Given the description of an element on the screen output the (x, y) to click on. 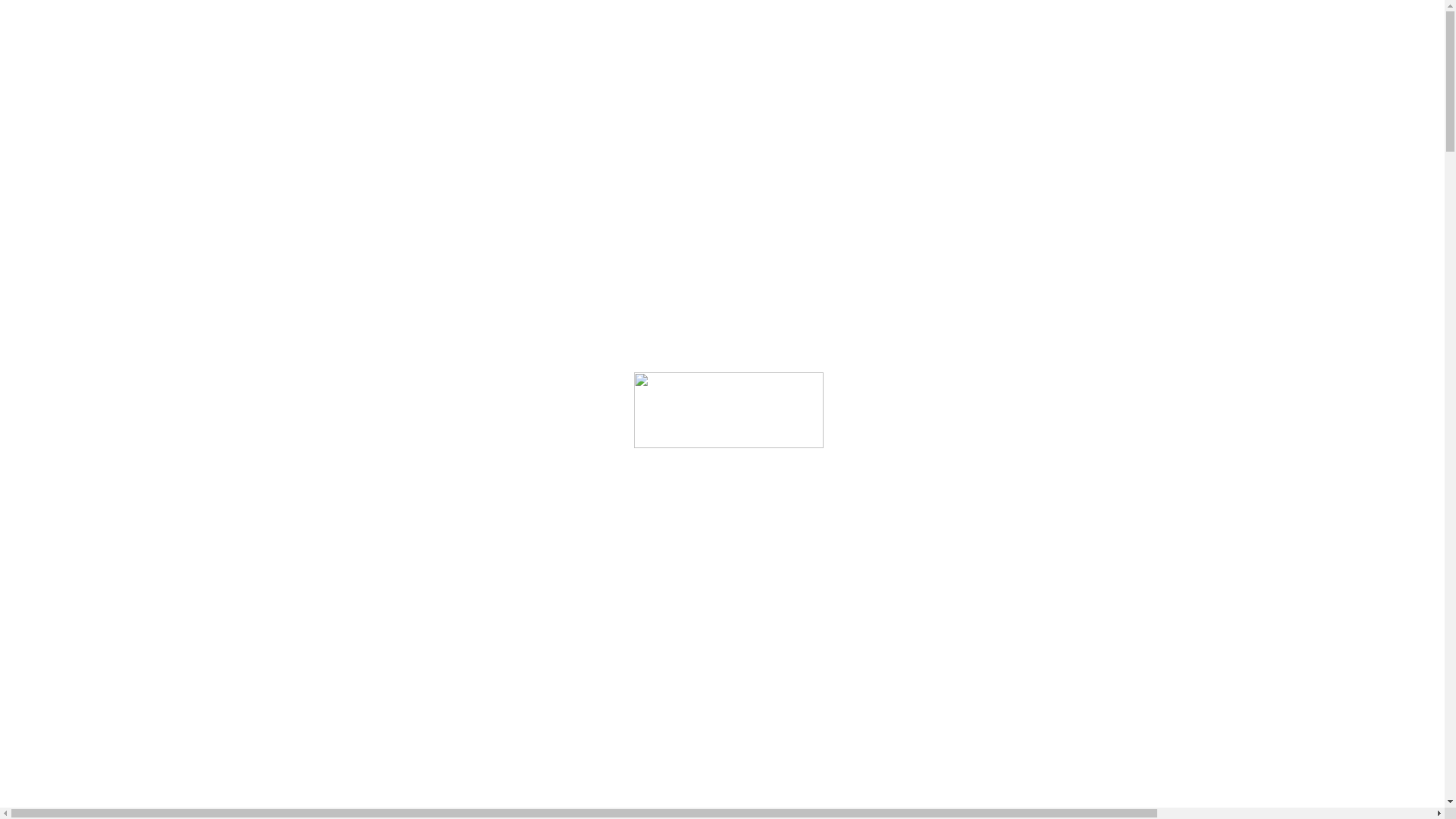
Contact Element type: text (55, 241)
EN Element type: text (51, 167)
FR Element type: text (50, 195)
ZOEK BEDRIJF Element type: text (75, 78)
TERUG NAAR ALTARES.BE Element type: text (100, 325)
Zoek organisatie Element type: text (48, 502)
Skip to content Element type: text (42, 12)
CONTACT Element type: text (66, 106)
Veelgestelde vragen Element type: text (84, 227)
Zoek bedrijf Element type: text (66, 213)
VEELGESTELDE VRAGEN Element type: text (100, 92)
